Given the description of an element on the screen output the (x, y) to click on. 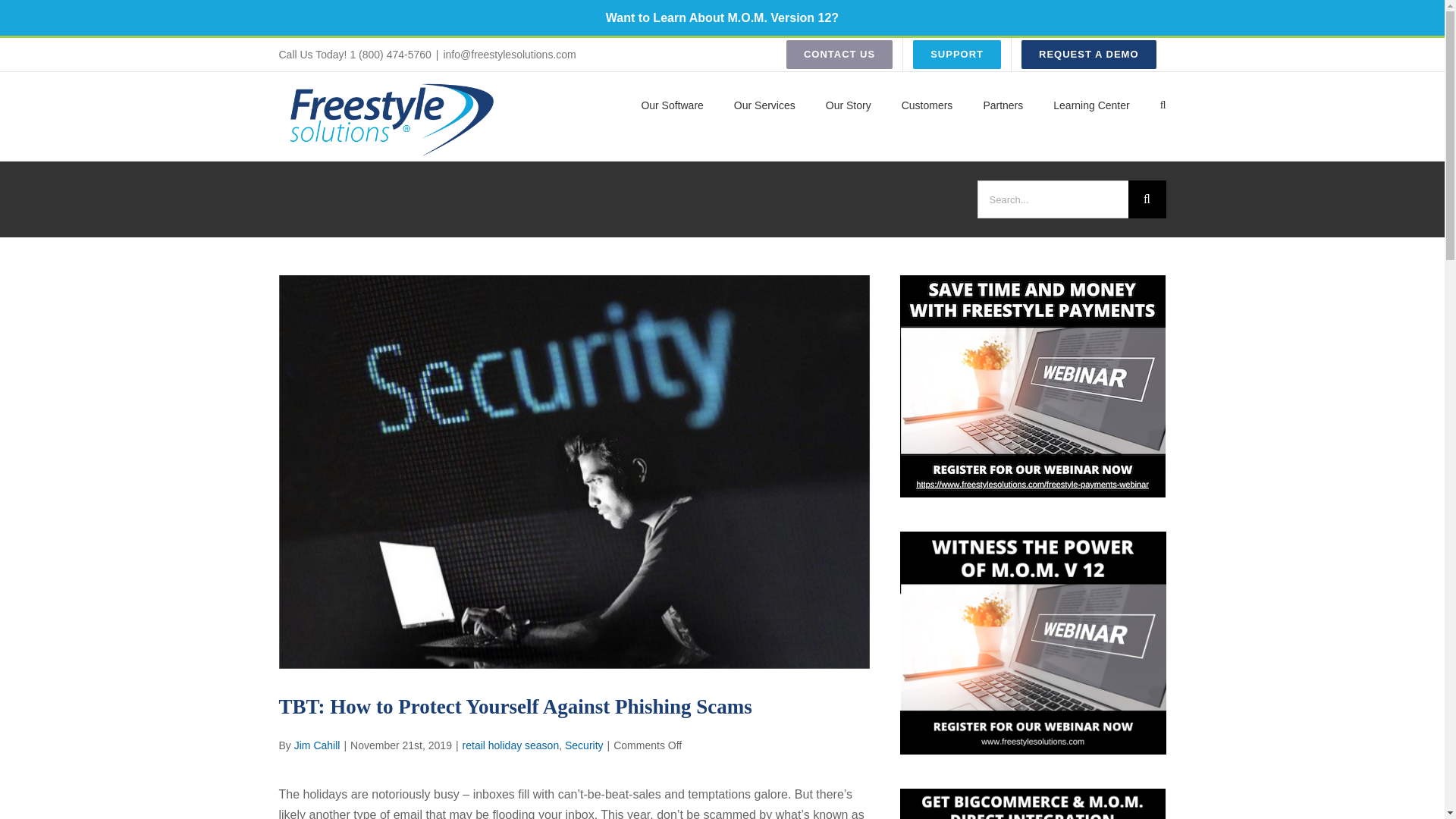
Request A Demo (1088, 54)
Support (956, 54)
Our Software (671, 103)
CONTACT US (839, 54)
Contact Us (839, 54)
Posts by Jim Cahill (317, 745)
REQUEST A DEMO (1088, 54)
Want to Learn About M.O.M. Version 12? (721, 17)
SUPPORT (956, 54)
Our Services (763, 103)
